Given the description of an element on the screen output the (x, y) to click on. 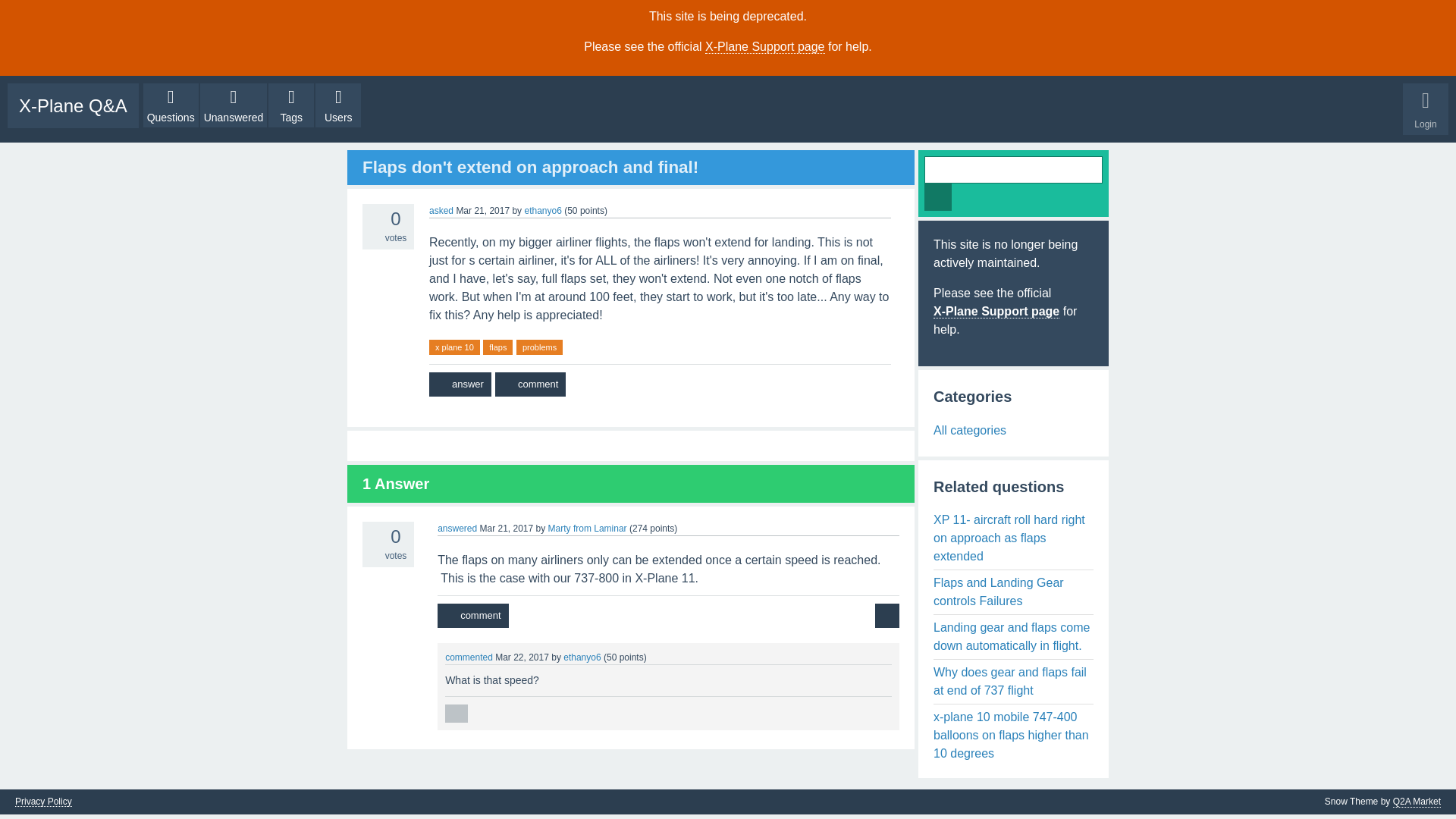
comment (530, 384)
answer (460, 384)
Reply to this comment (456, 713)
answer (460, 384)
ask related question (887, 615)
comment (473, 615)
Answer this question (460, 384)
Add a comment on this question (530, 384)
reply (456, 713)
ethanyo6 (542, 210)
flaps (497, 347)
Search (938, 196)
ask related question (887, 615)
comment (473, 615)
Tags (290, 105)
